Given the description of an element on the screen output the (x, y) to click on. 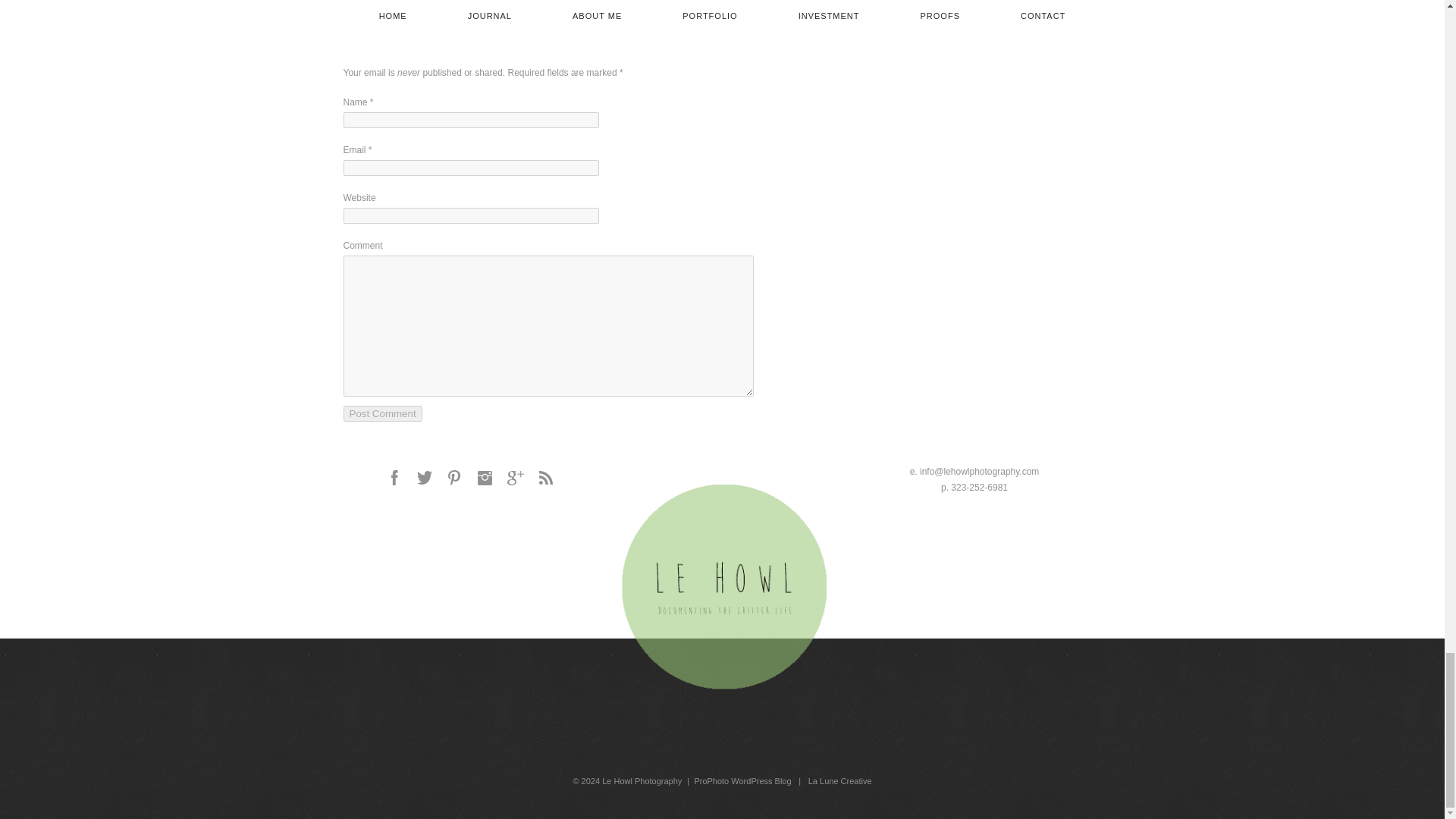
ProPhoto Photography Theme (742, 780)
Post Comment (382, 413)
NO COMMENTS (378, 7)
